Given the description of an element on the screen output the (x, y) to click on. 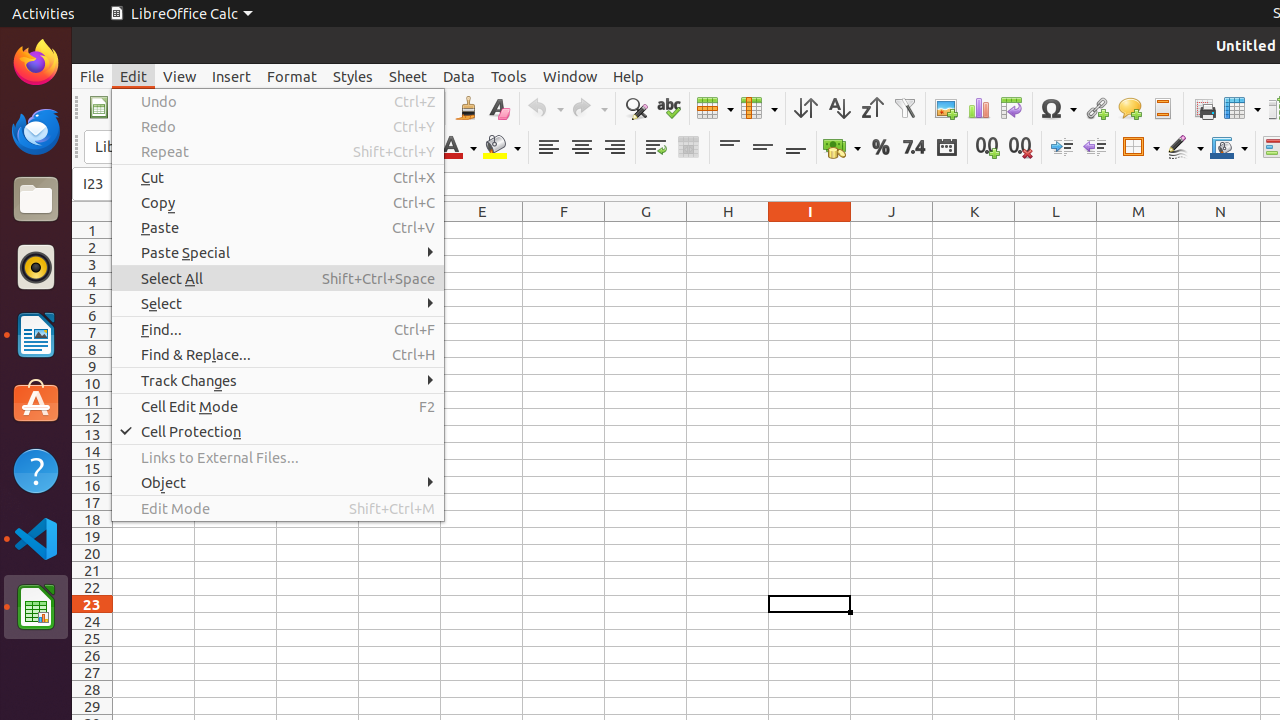
Align Left Element type: push-button (548, 147)
Insert Element type: menu (231, 76)
Number Element type: push-button (913, 147)
L1 Element type: table-cell (1056, 230)
